Given the description of an element on the screen output the (x, y) to click on. 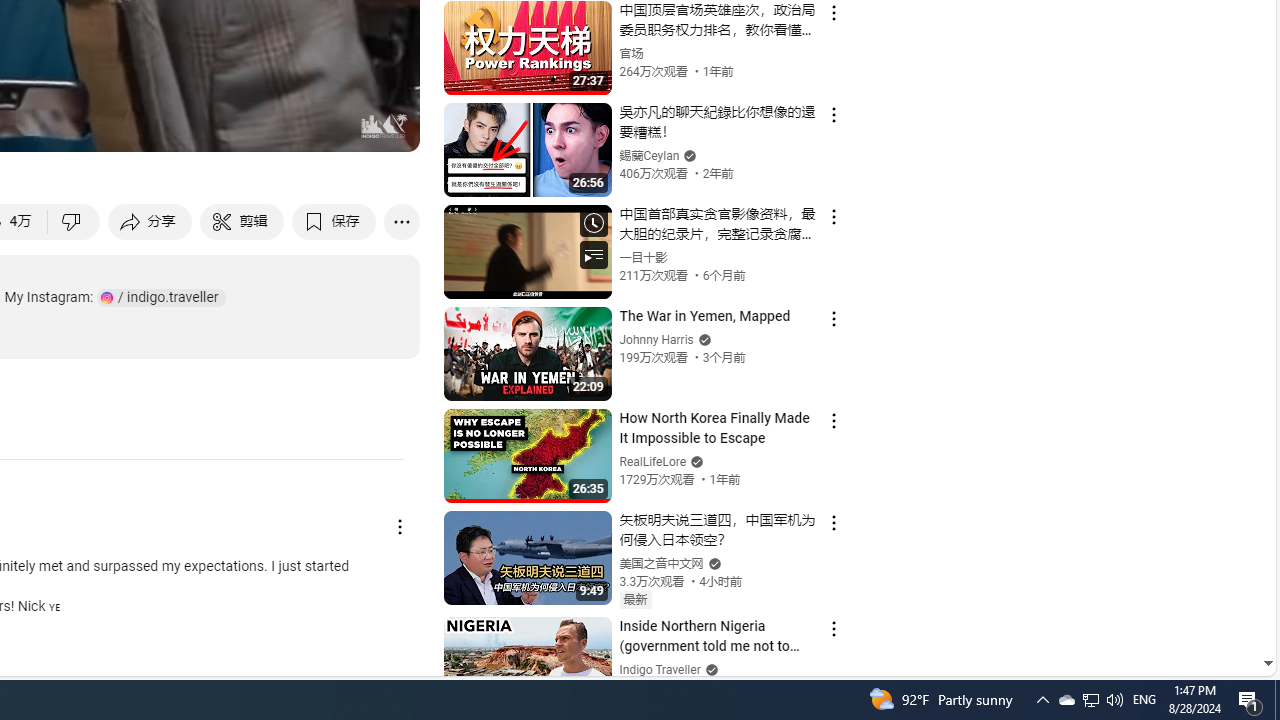
Instagram Channel Link: indigo.traveller (161, 297)
